Given the description of an element on the screen output the (x, y) to click on. 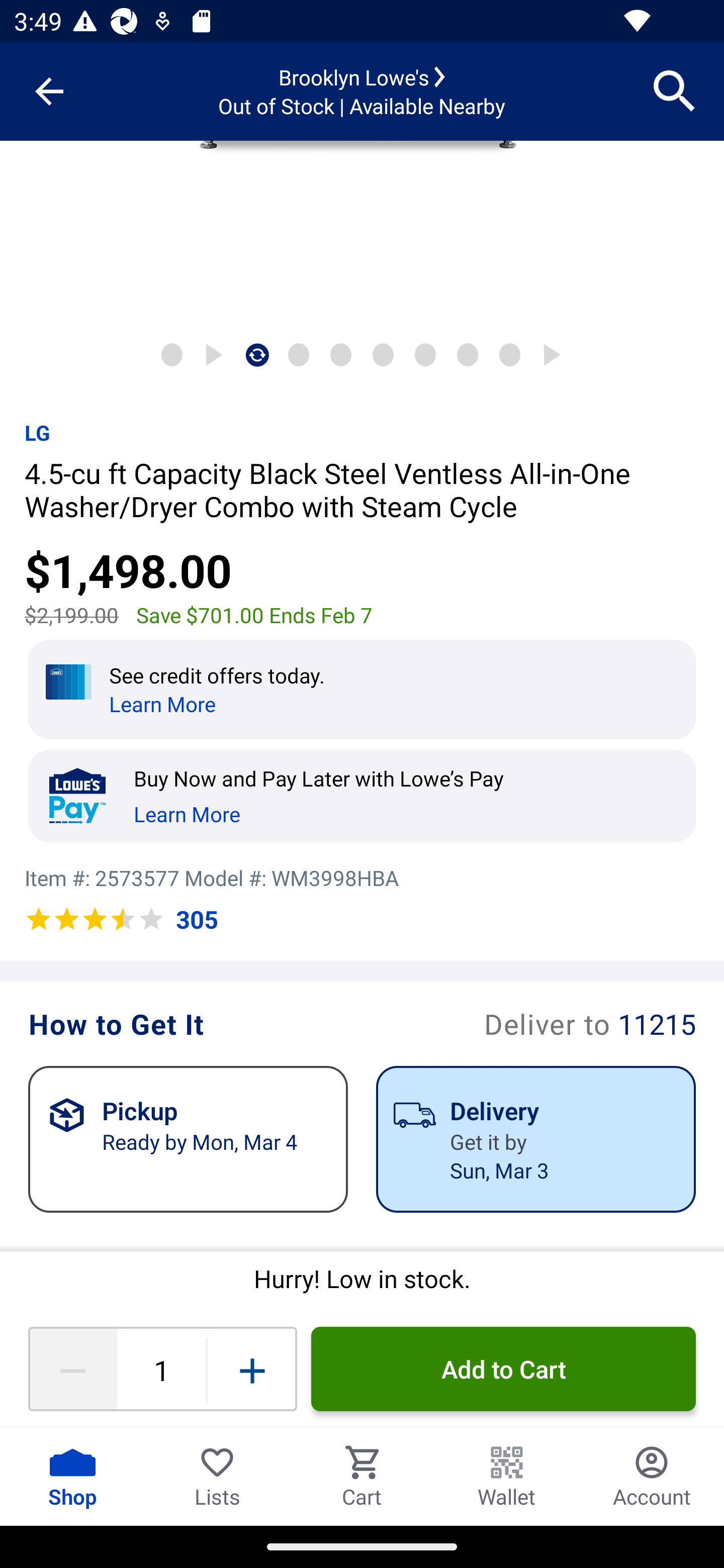
Navigate up (49, 91)
Search for products (674, 90)
Brooklyn Lowe's  Out of Stock | Available Nearby (361, 91)
See credit offers today. Learn More (361, 688)
Learn More (162, 703)
Buy Now and Pay Later with Lowe’s Pay Learn More (372, 795)
Learn More (186, 810)
7.0 305 3.50 Ratings out of305 (120, 919)
Product Image Pickup Ready by Mon, Mar 4 (188, 1139)
Product Image Delivery Get it by Sun, Mar 3 (535, 1139)
Decrease quantity (72, 1368)
1 (161, 1368)
Increase quantity (251, 1368)
Add to Cart (503, 1368)
Lists (216, 1475)
Cart (361, 1475)
Wallet (506, 1475)
Account (651, 1475)
